Given the description of an element on the screen output the (x, y) to click on. 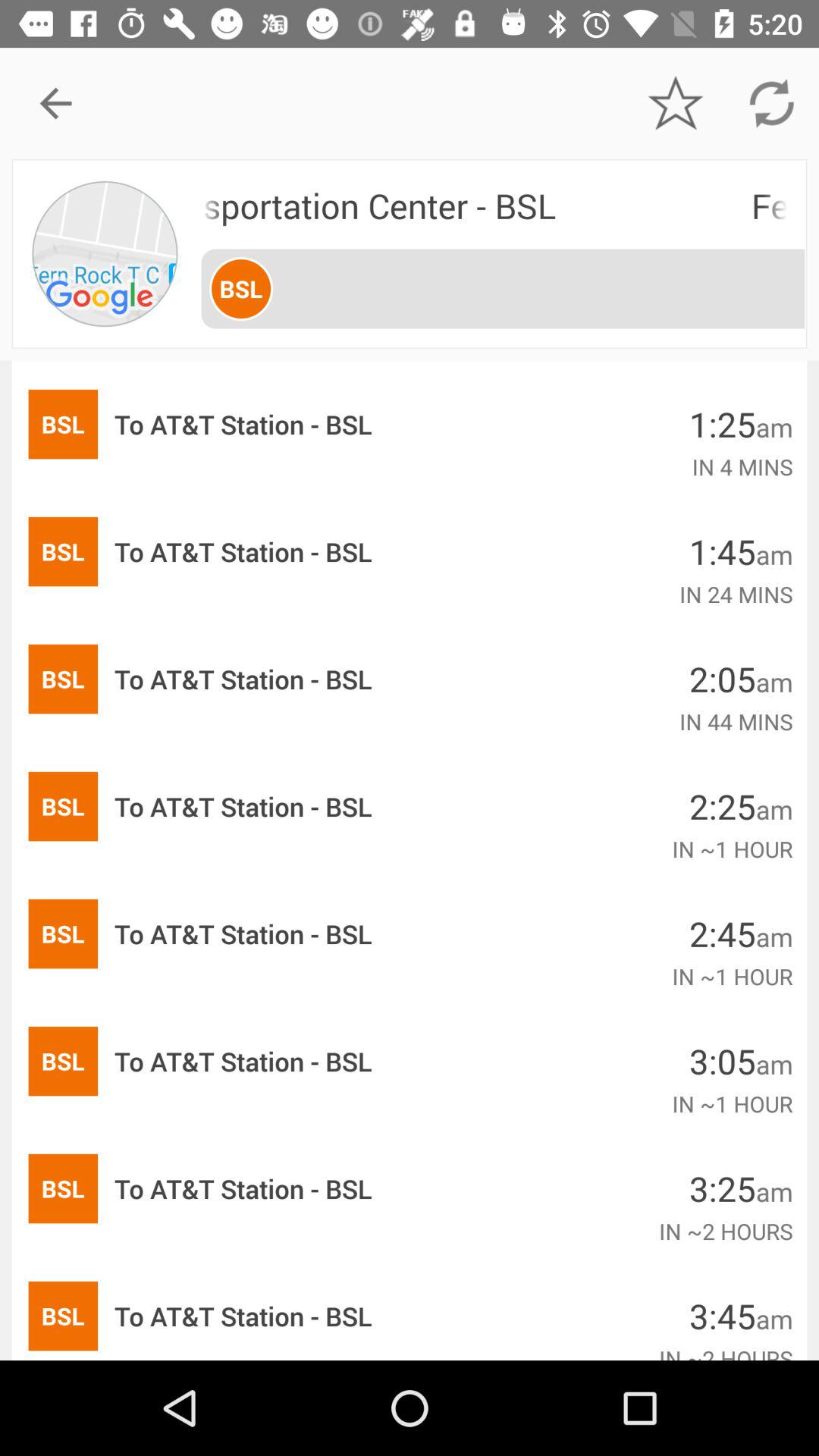
open the item to the left of the fern rock transportation icon (104, 253)
